Given the description of an element on the screen output the (x, y) to click on. 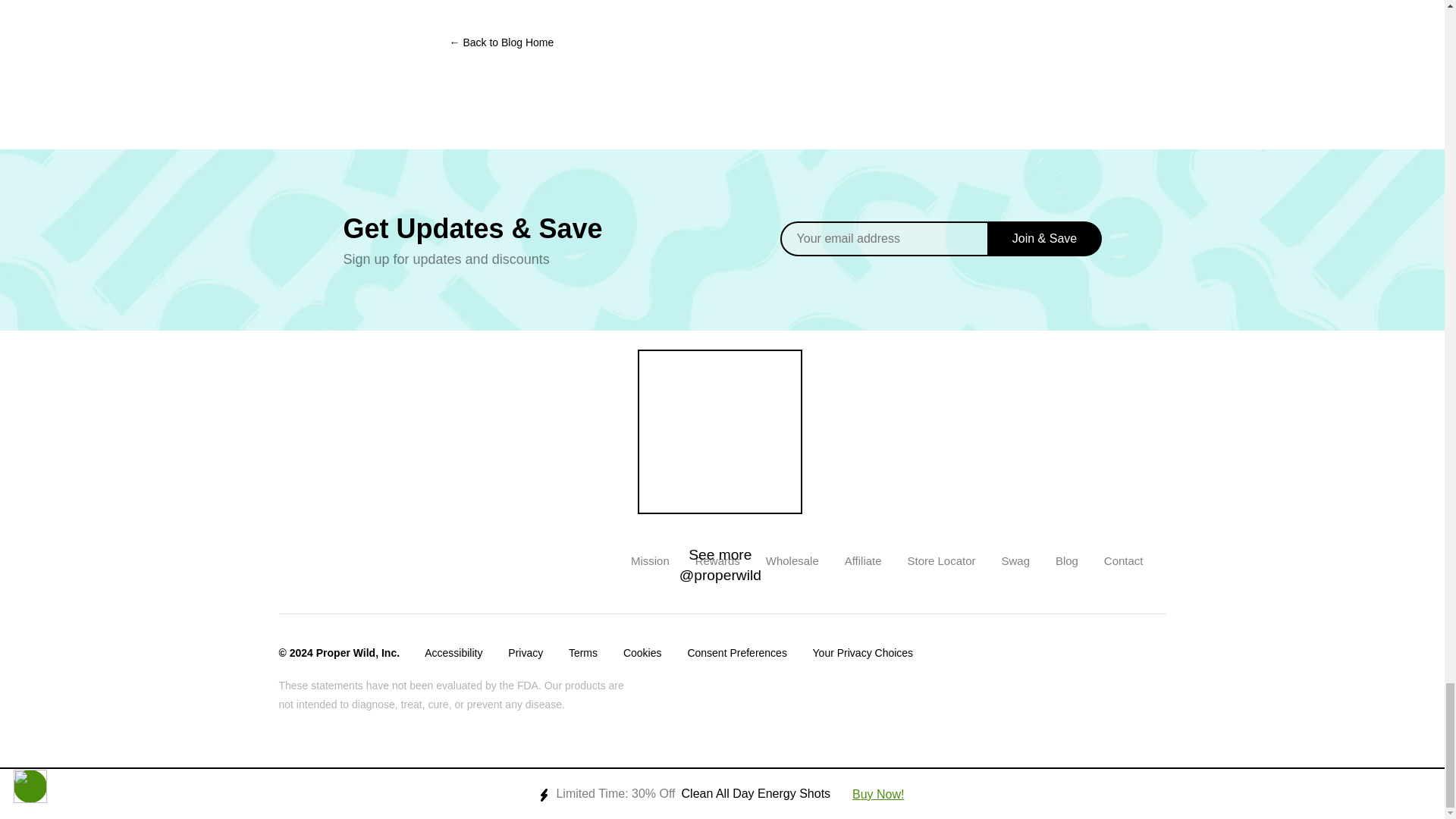
Your email address (884, 238)
